Given the description of an element on the screen output the (x, y) to click on. 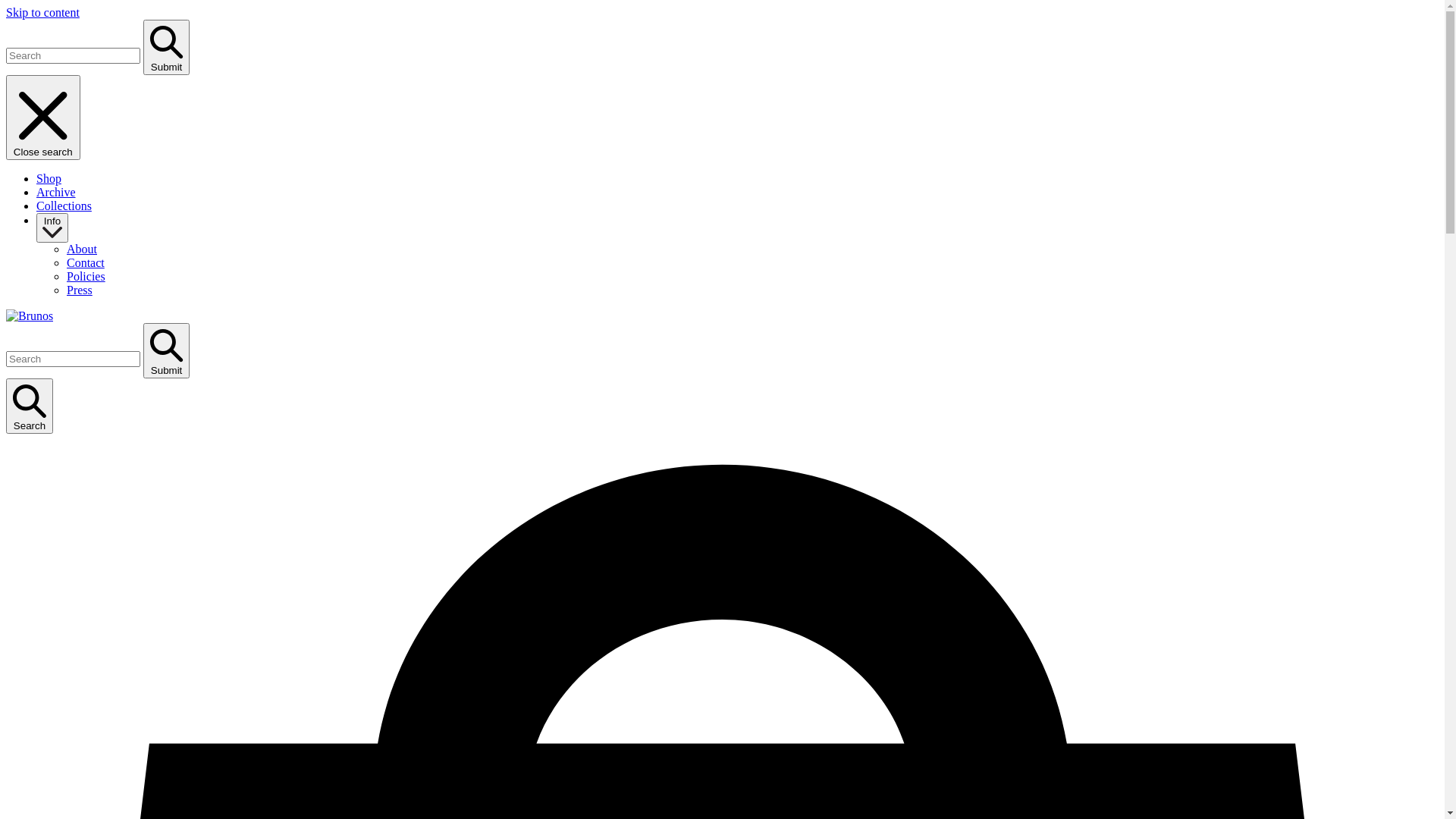
Contact Element type: text (85, 262)
Close search Element type: text (43, 117)
Skip to content Element type: text (42, 12)
Shop Element type: text (48, 178)
Press Element type: text (79, 289)
Submit Element type: text (166, 350)
About Element type: text (81, 248)
Submit Element type: text (166, 47)
Policies Element type: text (85, 275)
Archive Element type: text (55, 191)
Collections Element type: text (63, 205)
Search Element type: text (29, 406)
